Given the description of an element on the screen output the (x, y) to click on. 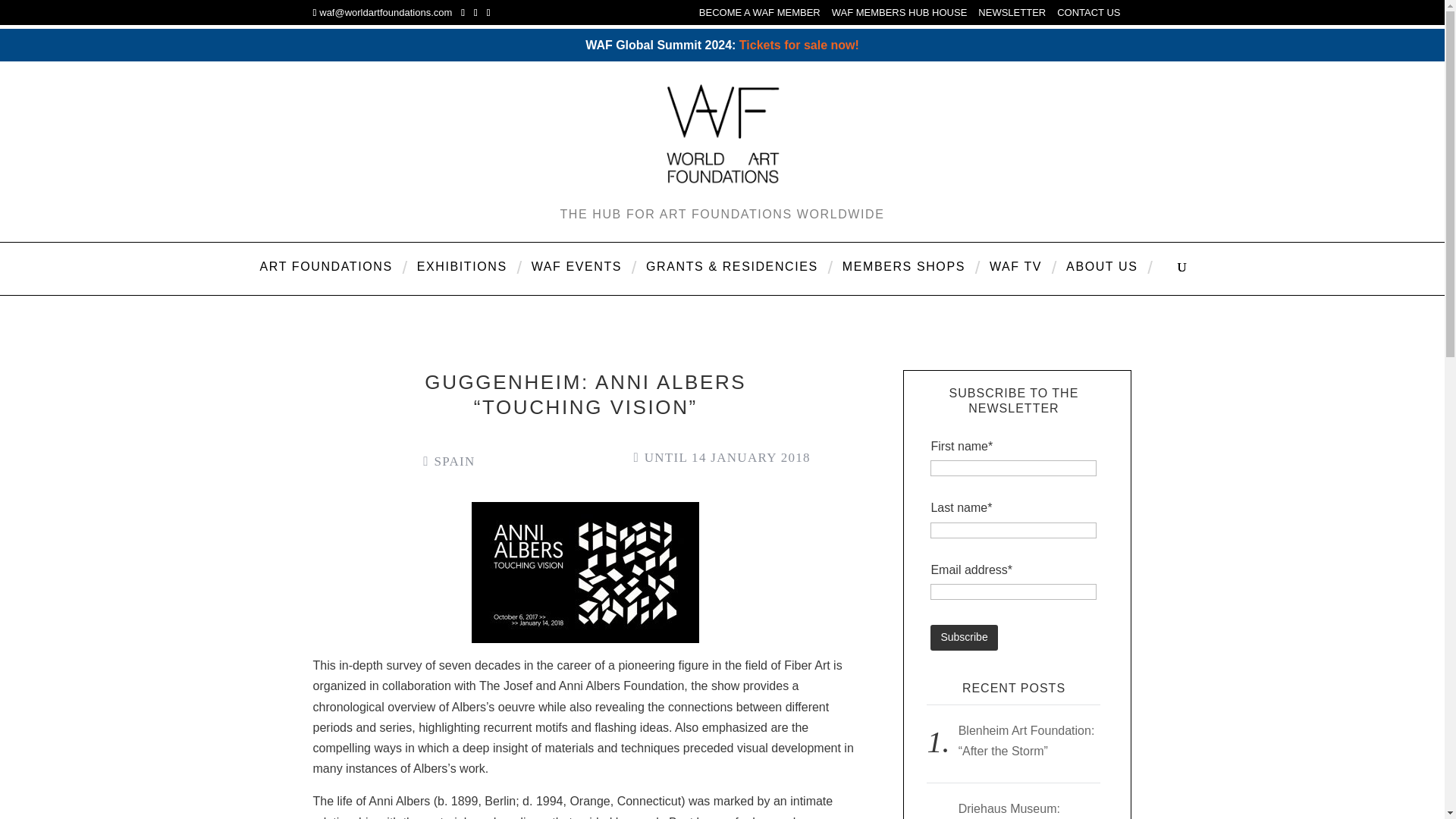
Subscribe (963, 637)
BECOME A WAF MEMBER (759, 16)
WAF TV (1015, 277)
EXHIBITIONS (462, 277)
ART FOUNDATIONS (326, 277)
WAF MEMBERS HUB HOUSE (899, 16)
Driehaus Museum: Chicago Collects-Jewelry in Perspective (1026, 810)
WAF EVENTS (576, 277)
Tickets for sale now! (799, 43)
NEWSLETTER (1011, 16)
Subscribe (963, 637)
ABOUT US (1101, 277)
MEMBERS SHOPS (903, 277)
CONTACT US (1088, 16)
